Given the description of an element on the screen output the (x, y) to click on. 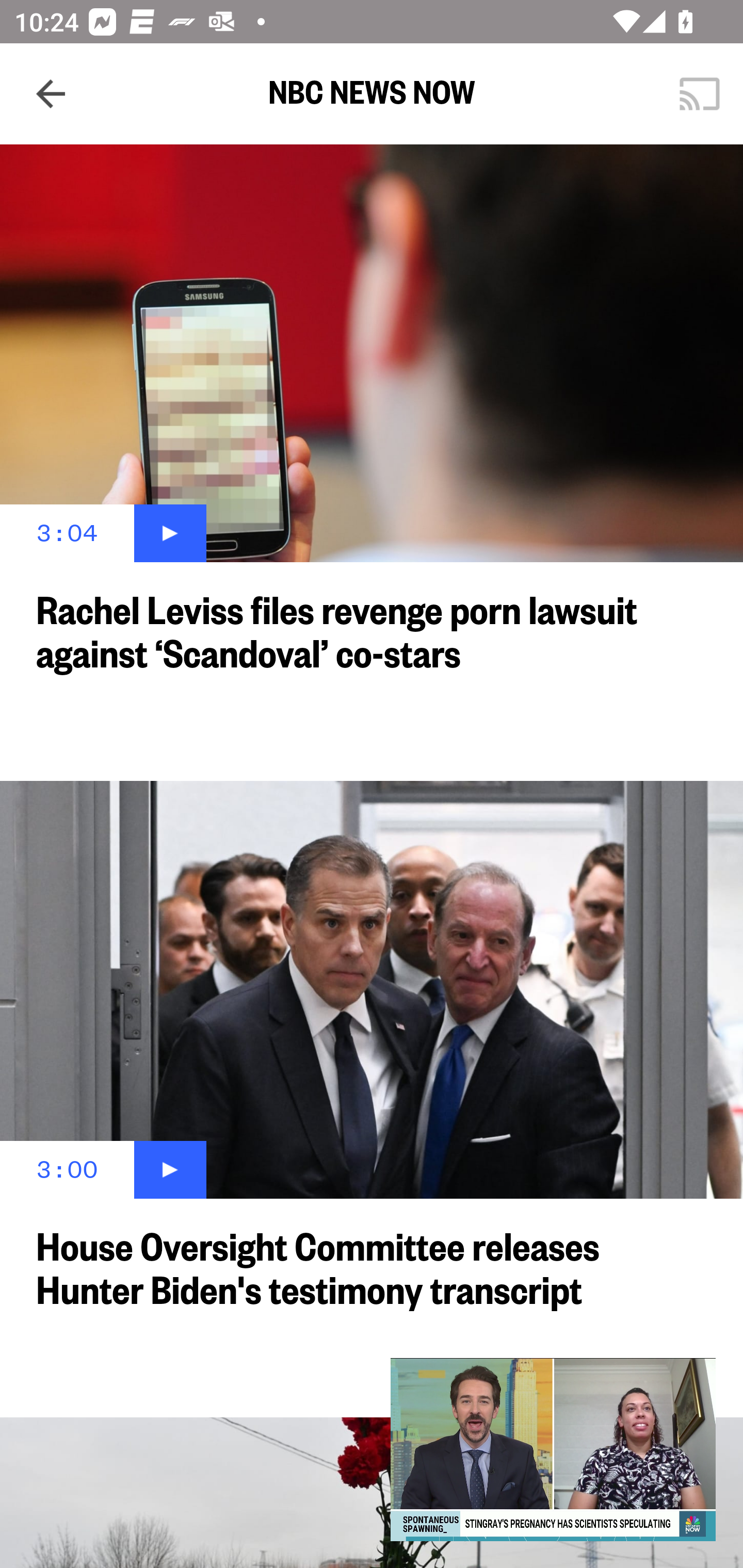
Navigate up (50, 93)
Cast. Disconnected (699, 93)
